Given the description of an element on the screen output the (x, y) to click on. 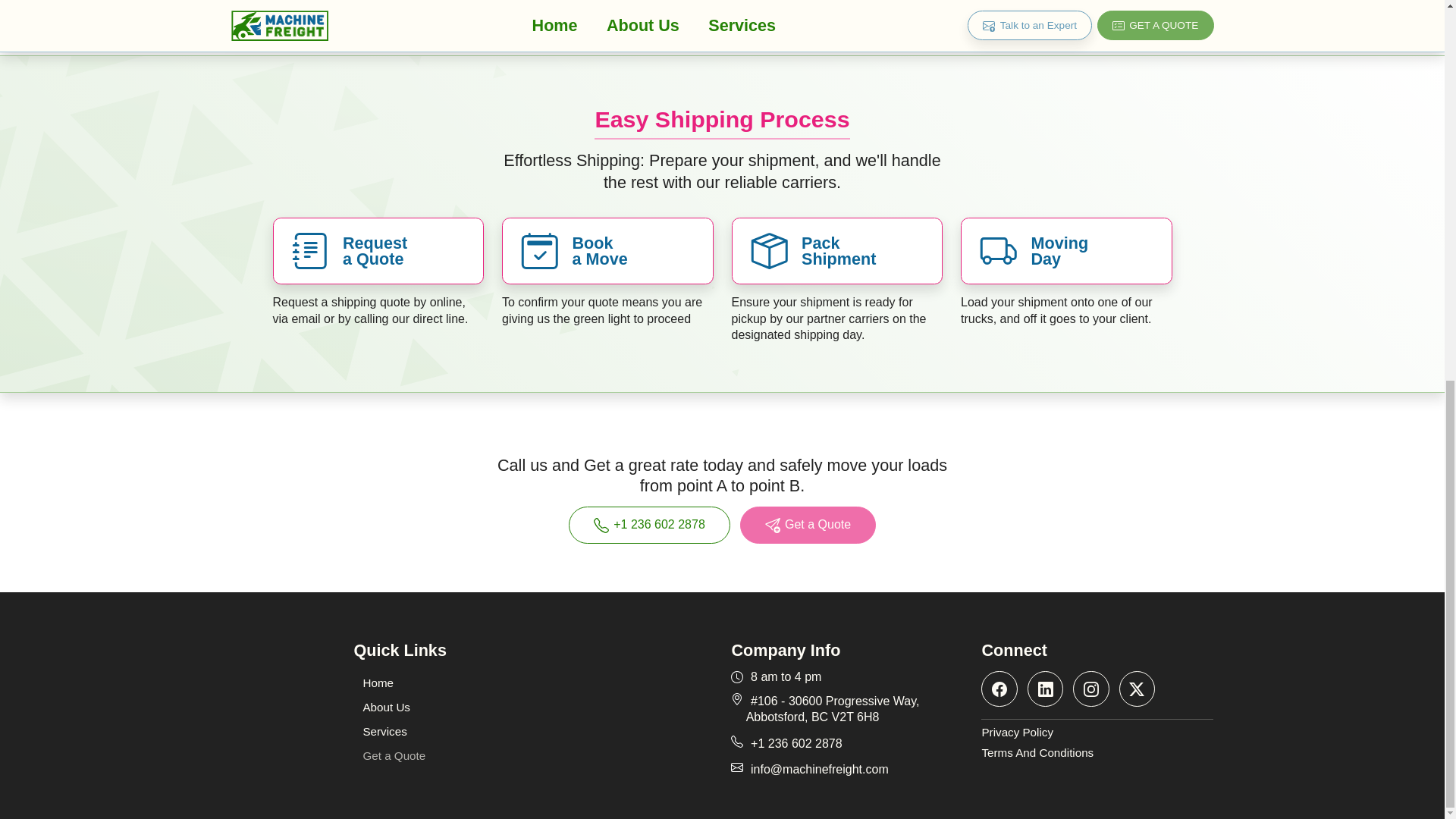
Get a Quote (807, 524)
Home (378, 682)
Privacy Policy (1096, 732)
Services (383, 731)
Get a Quote (393, 754)
Terms And Conditions (1096, 753)
About Us (386, 707)
